Given the description of an element on the screen output the (x, y) to click on. 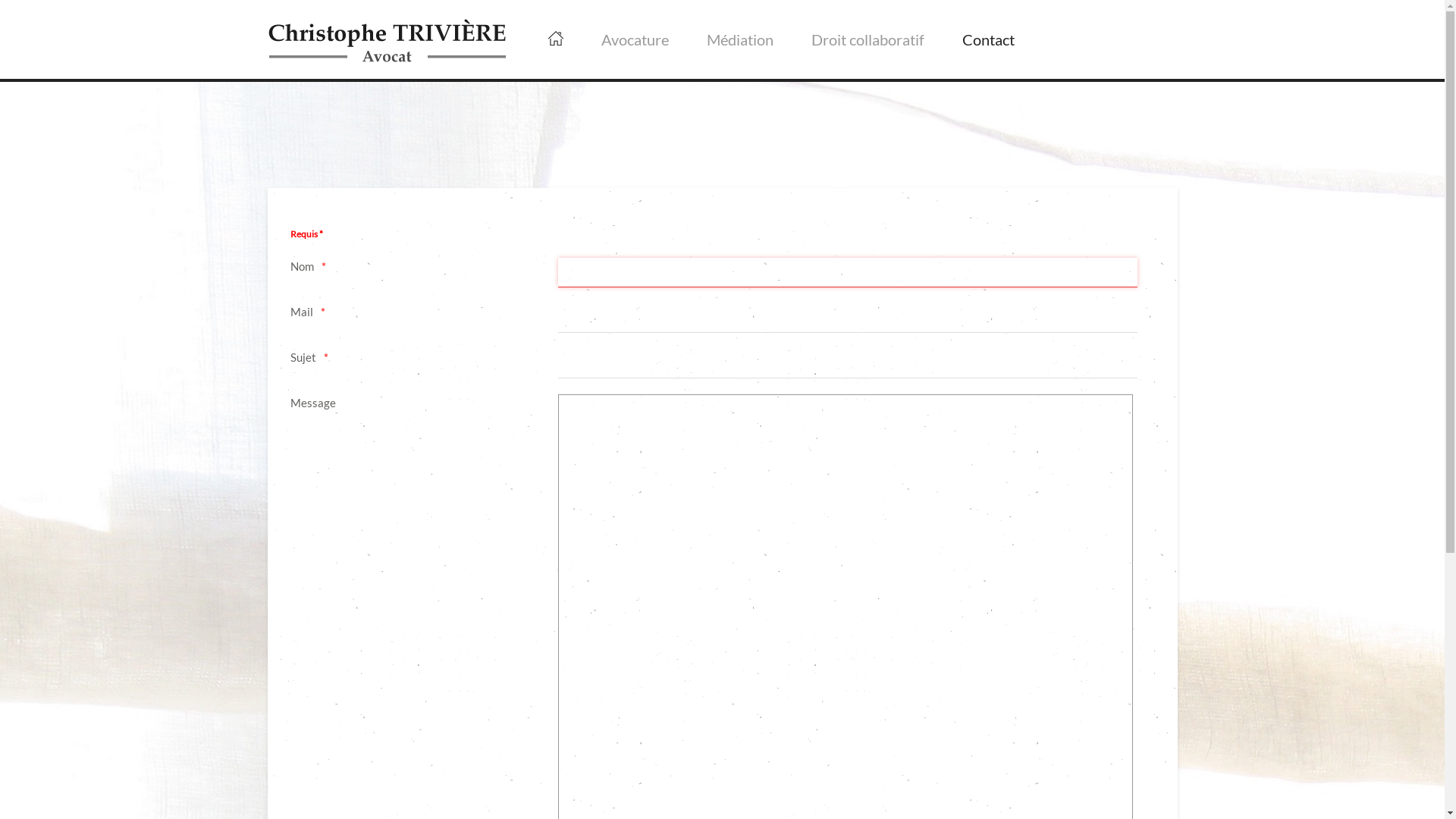
Droit collaboratif Element type: text (866, 39)
Contact Element type: text (988, 39)
Avocature Element type: text (634, 39)
